Given the description of an element on the screen output the (x, y) to click on. 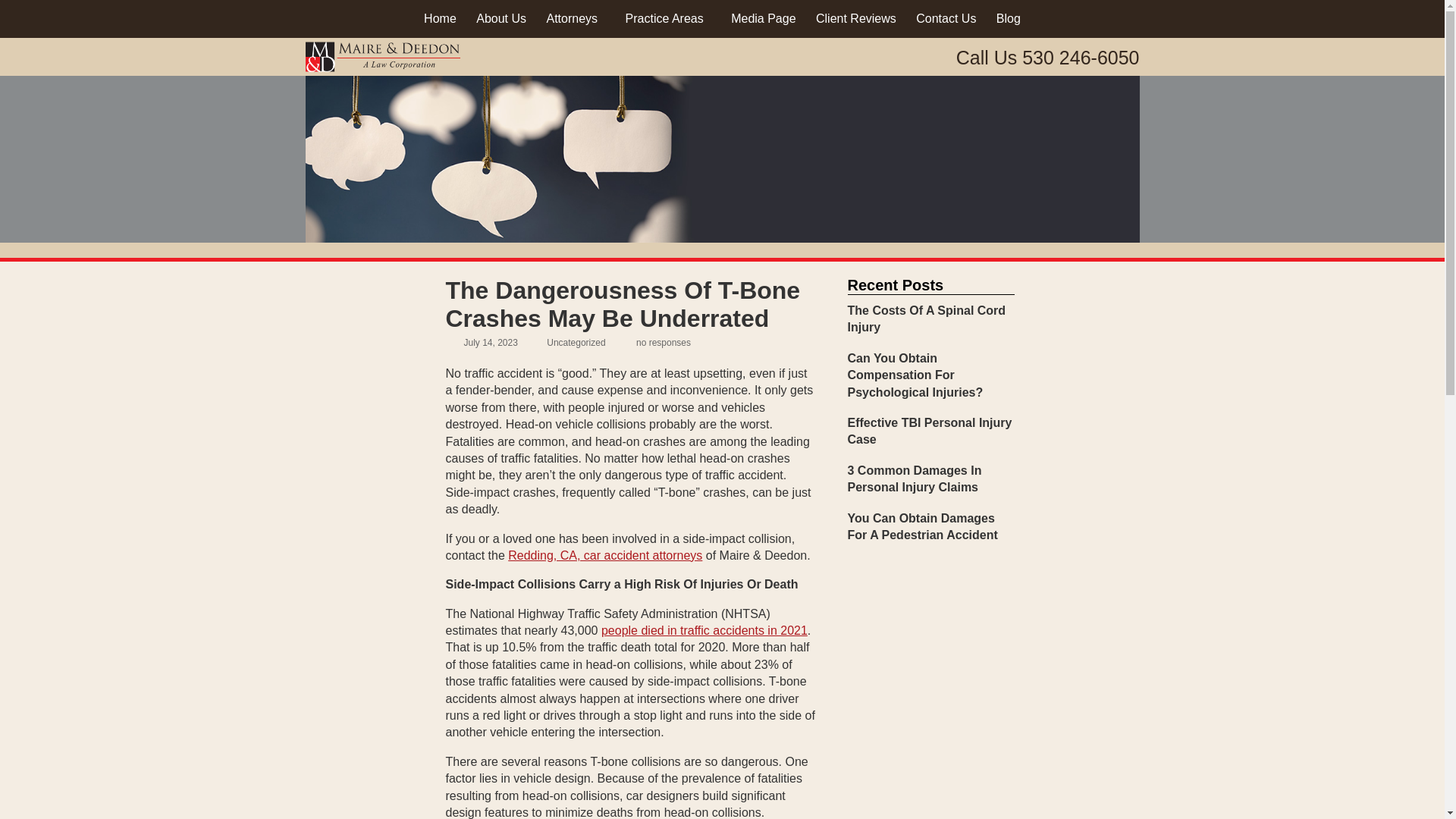
Blog (1008, 18)
people died in traffic accidents in 2021 (704, 630)
Practice Areas (664, 18)
no responses (663, 342)
About Us (500, 18)
You Can Obtain Damages For A Pedestrian Accident (930, 527)
The Costs Of A Spinal Cord Injury (930, 319)
Effective TBI Personal Injury Case (930, 431)
3 Common Damages In Personal Injury Claims (930, 479)
Media Page (762, 18)
